Given the description of an element on the screen output the (x, y) to click on. 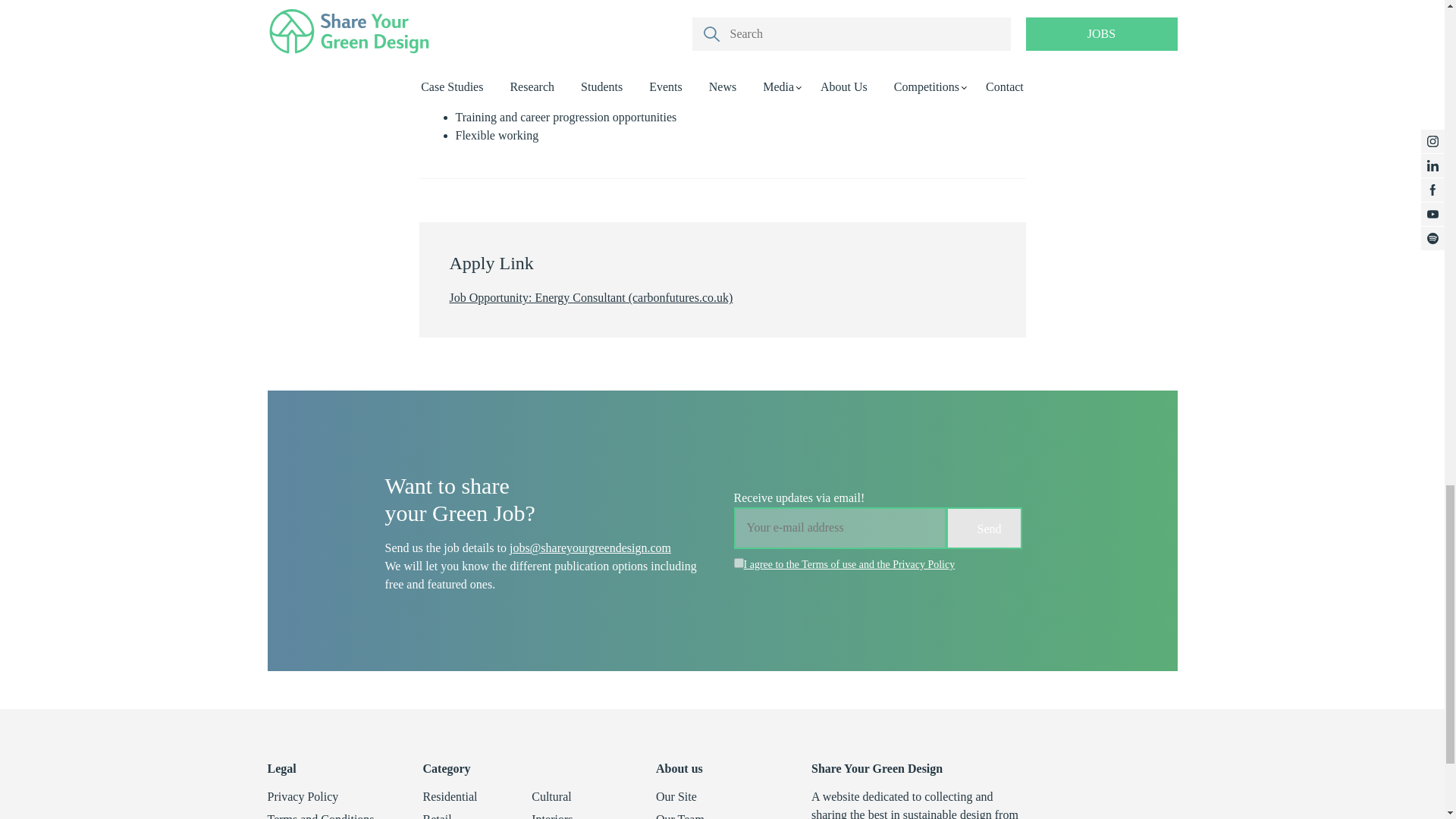
I agree to the Terms of use and the Privacy Policy (848, 564)
Our Site (676, 796)
Send (984, 527)
Privacy Policy (301, 796)
on (738, 562)
Send (984, 527)
